Given the description of an element on the screen output the (x, y) to click on. 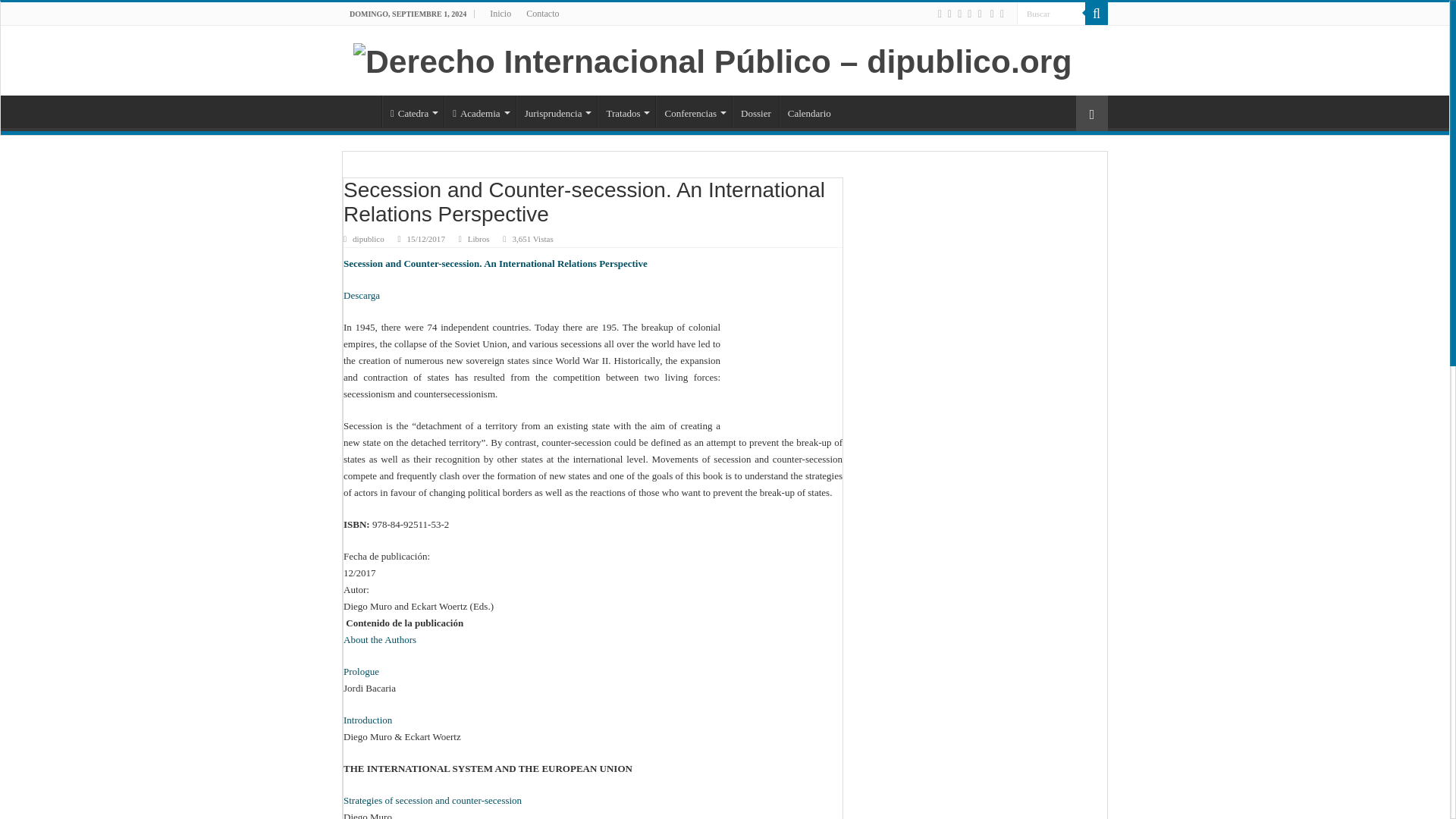
Contacto (542, 13)
Inicio (499, 13)
Buscar (1050, 13)
Buscar (1050, 13)
Catedra (412, 111)
Academia (479, 111)
Buscar (1050, 13)
Inicio (361, 111)
Buscar (1096, 13)
